Given the description of an element on the screen output the (x, y) to click on. 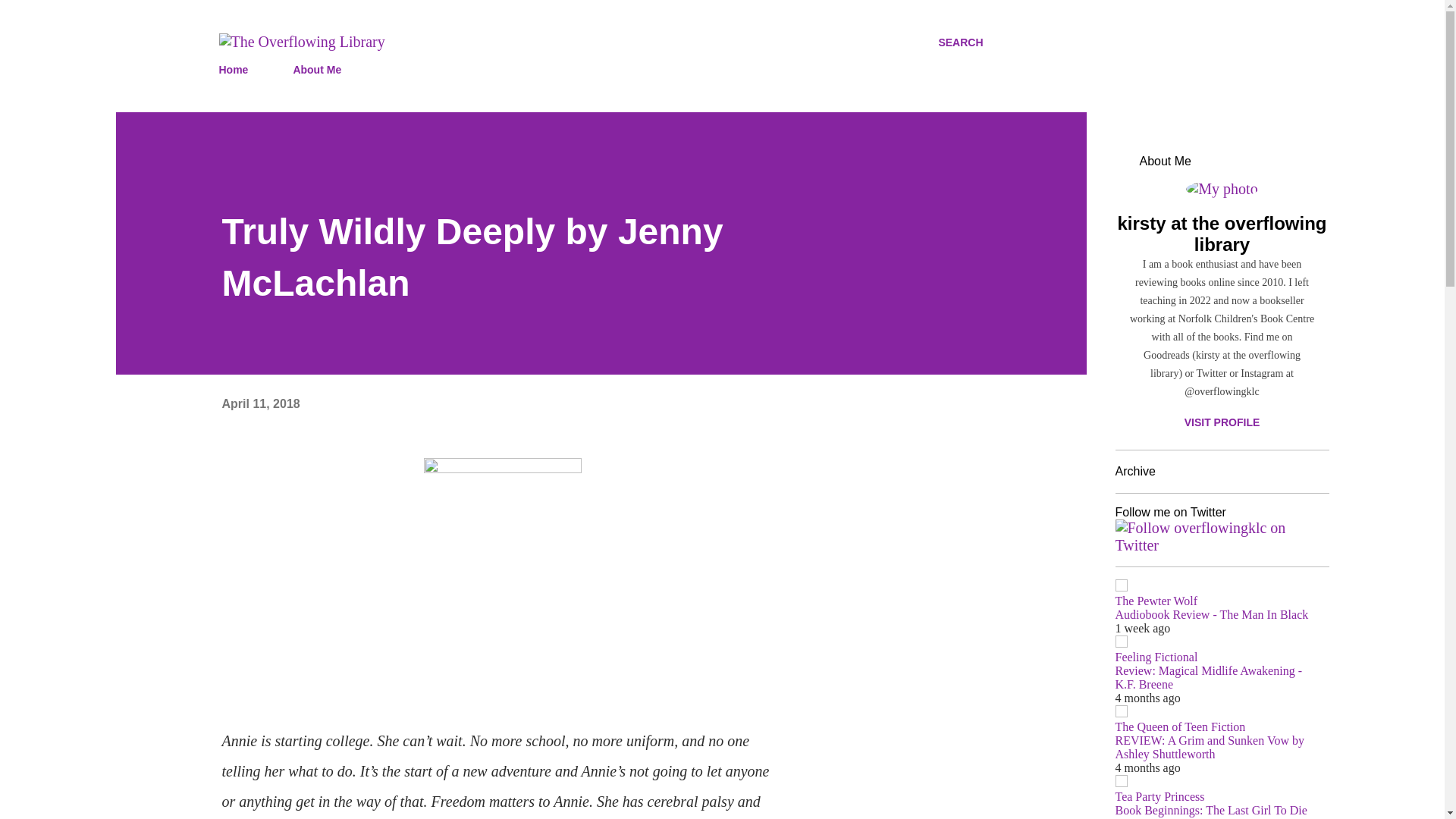
SEARCH (959, 42)
VISIT PROFILE (1221, 422)
About Me (316, 69)
April 11, 2018 (260, 403)
kirsty at the overflowing library (1221, 233)
Home (237, 69)
permanent link (260, 403)
